Given the description of an element on the screen output the (x, y) to click on. 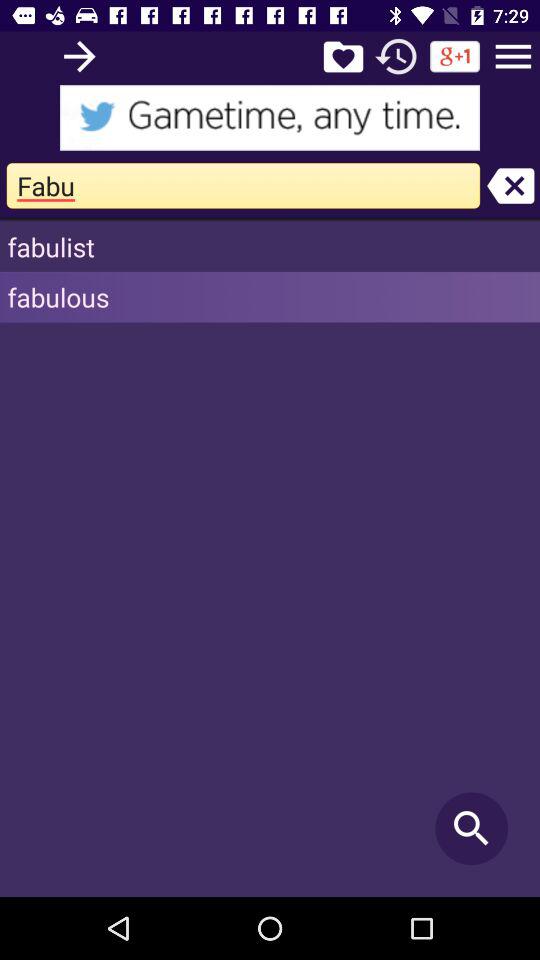
see favorites (343, 56)
